Given the description of an element on the screen output the (x, y) to click on. 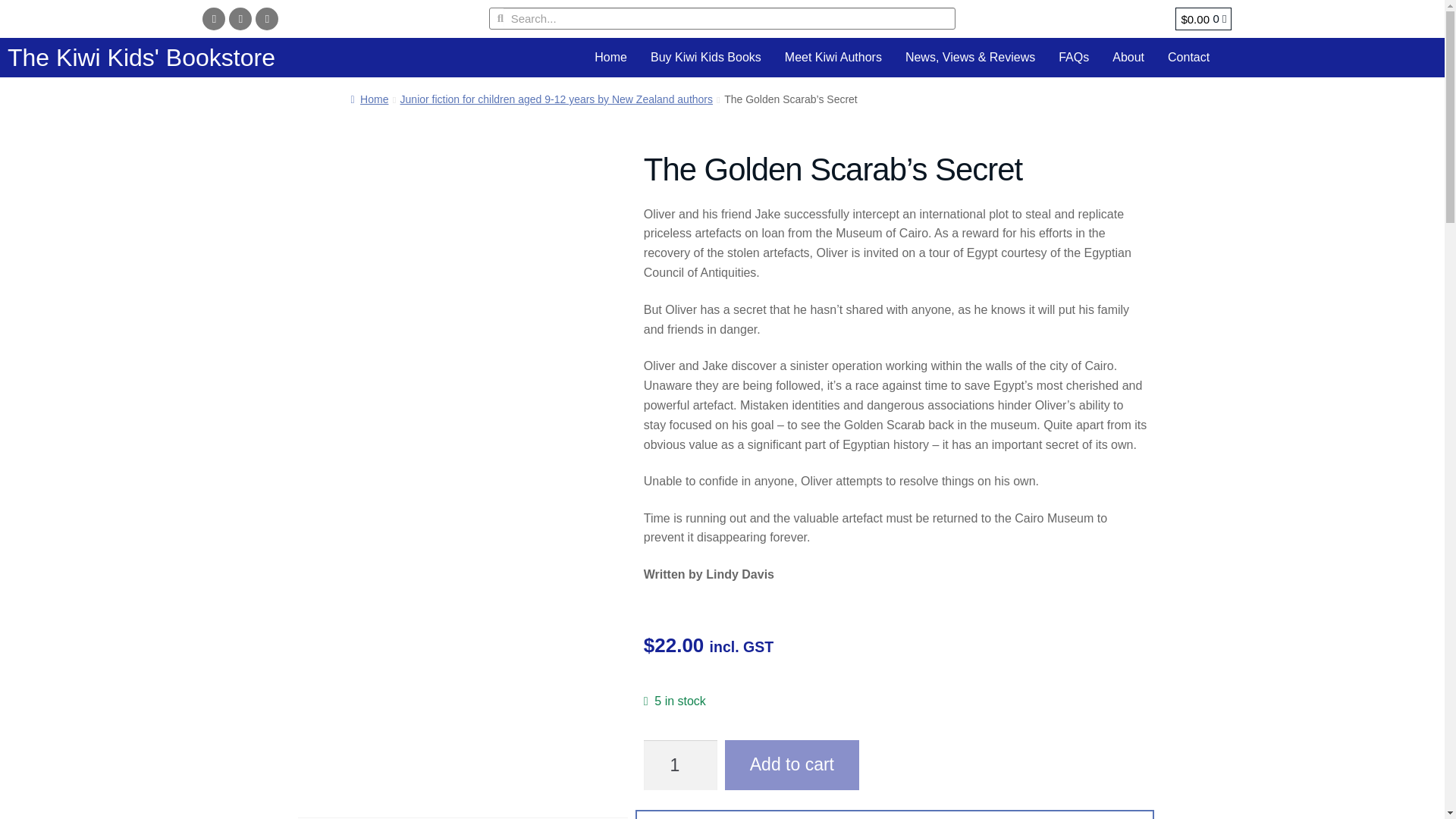
Meet Kiwi Authors (832, 57)
Home (611, 57)
FAQs (1073, 57)
Contact (1188, 57)
About (1128, 57)
Buy Kiwi Kids Books (705, 57)
1 (680, 765)
The Kiwi Kids' Bookstore (141, 57)
